Given the description of an element on the screen output the (x, y) to click on. 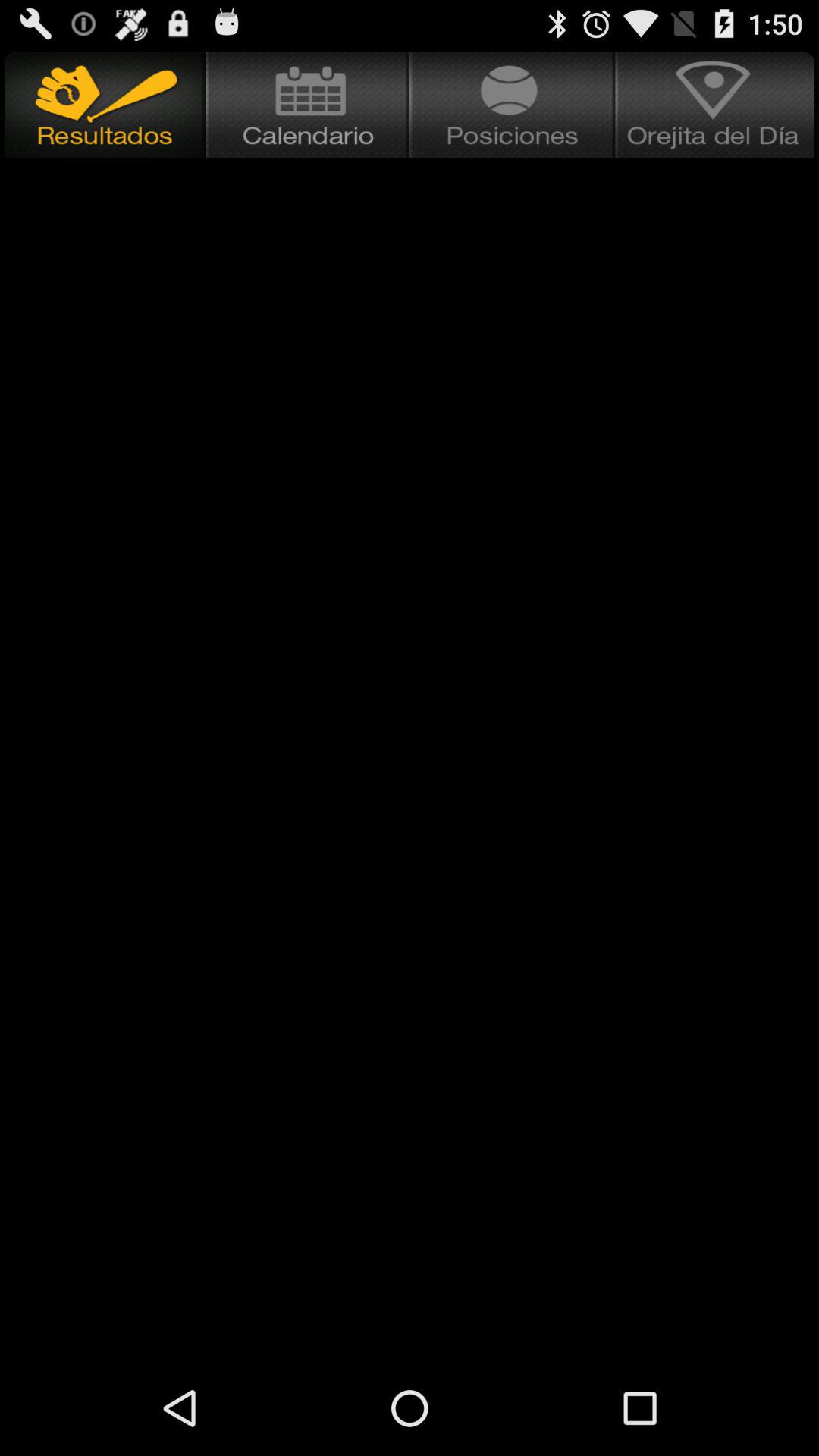
select the icon at the center (409, 711)
